Given the description of an element on the screen output the (x, y) to click on. 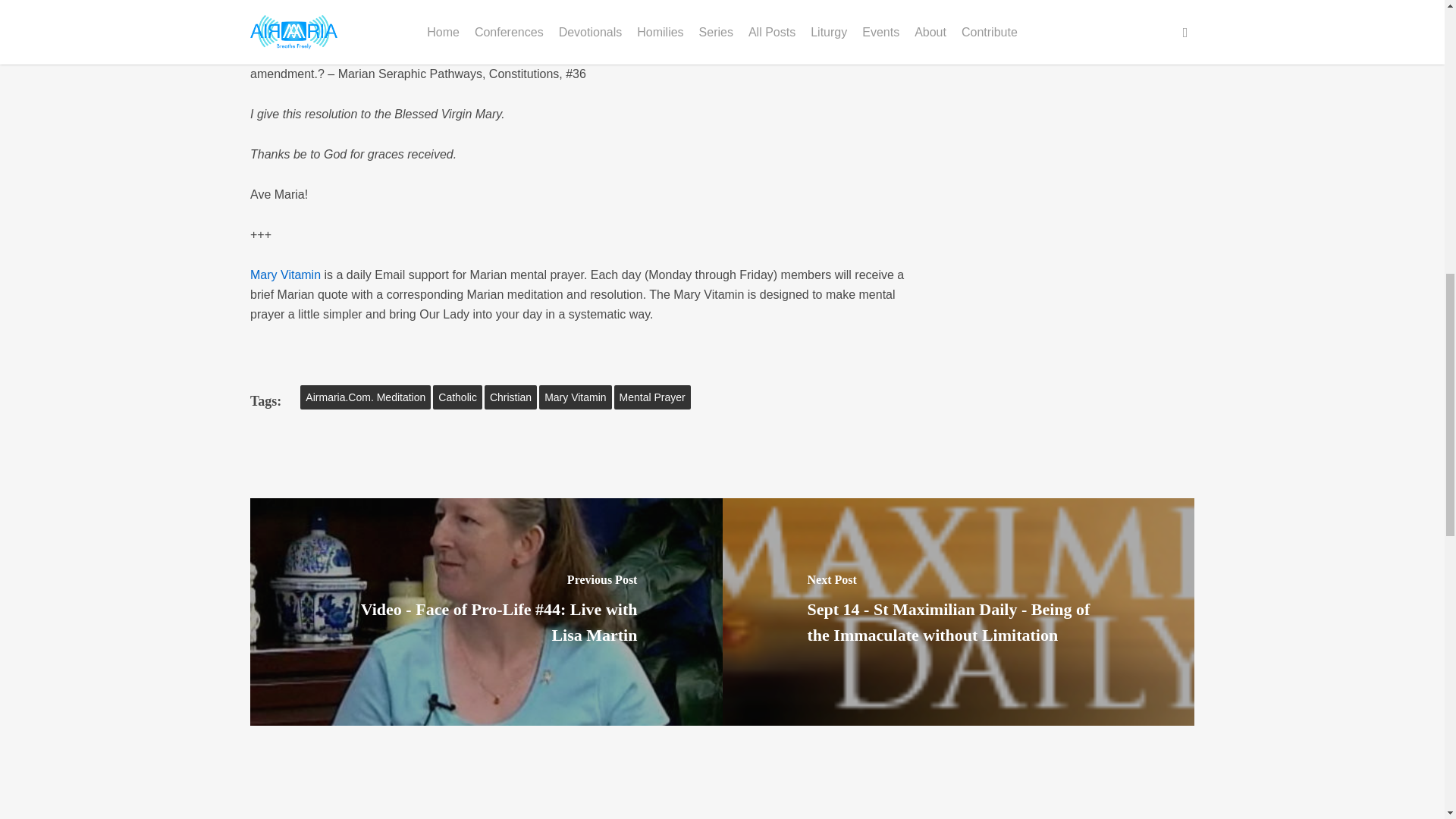
Catholic (456, 396)
Mental Prayer (652, 396)
Airmaria.Com. Meditation (364, 396)
Mary Vitamin (285, 274)
Mary Vitamin (574, 396)
Christian (510, 396)
